Given the description of an element on the screen output the (x, y) to click on. 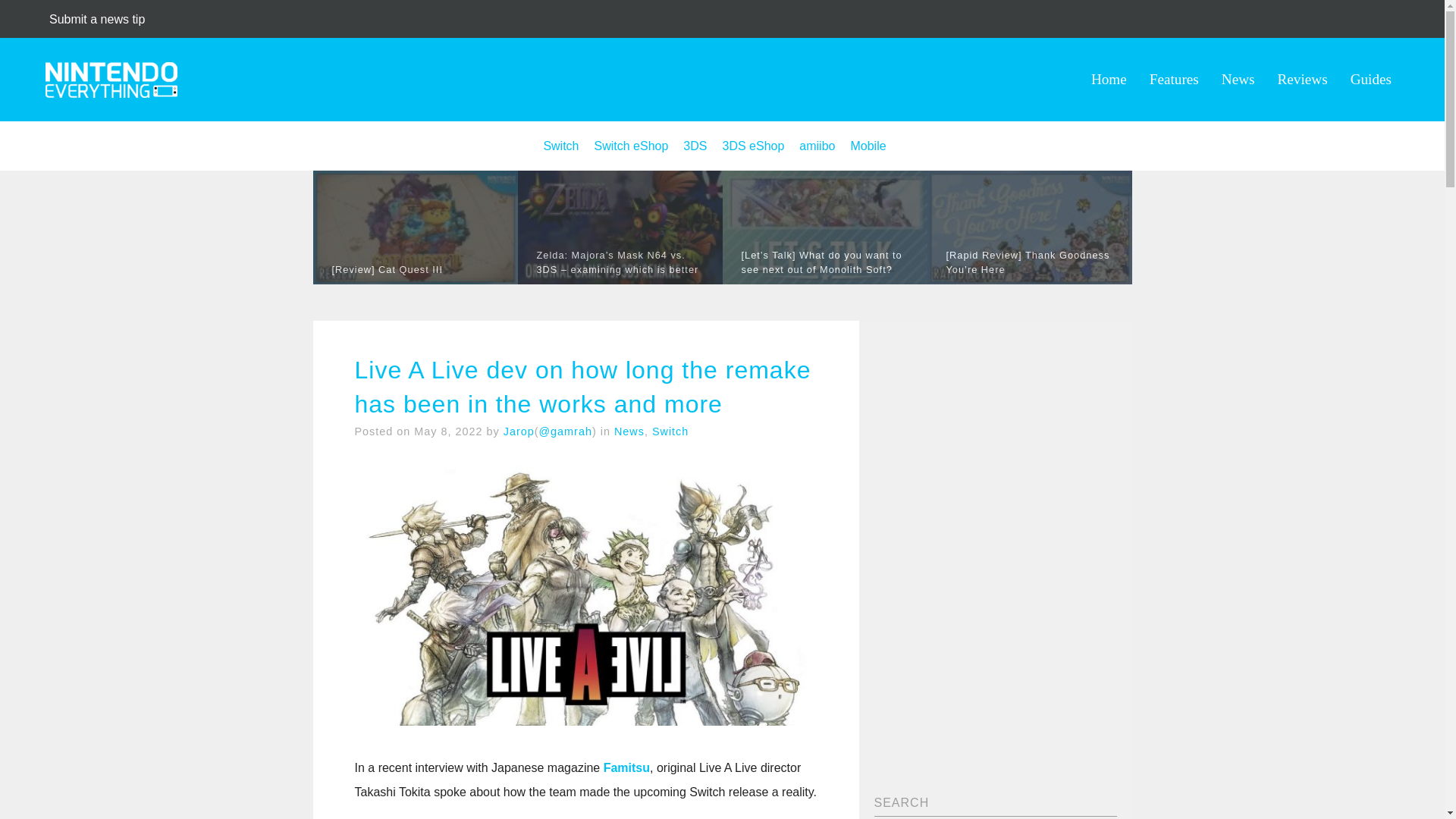
Home (1108, 78)
3DS eShop (753, 145)
Reviews (1302, 78)
3DS (694, 145)
Guides (1371, 78)
Switch (670, 431)
Switch eShop (631, 145)
Mobile (867, 145)
News (1238, 78)
Submit a news tip (97, 19)
